Given the description of an element on the screen output the (x, y) to click on. 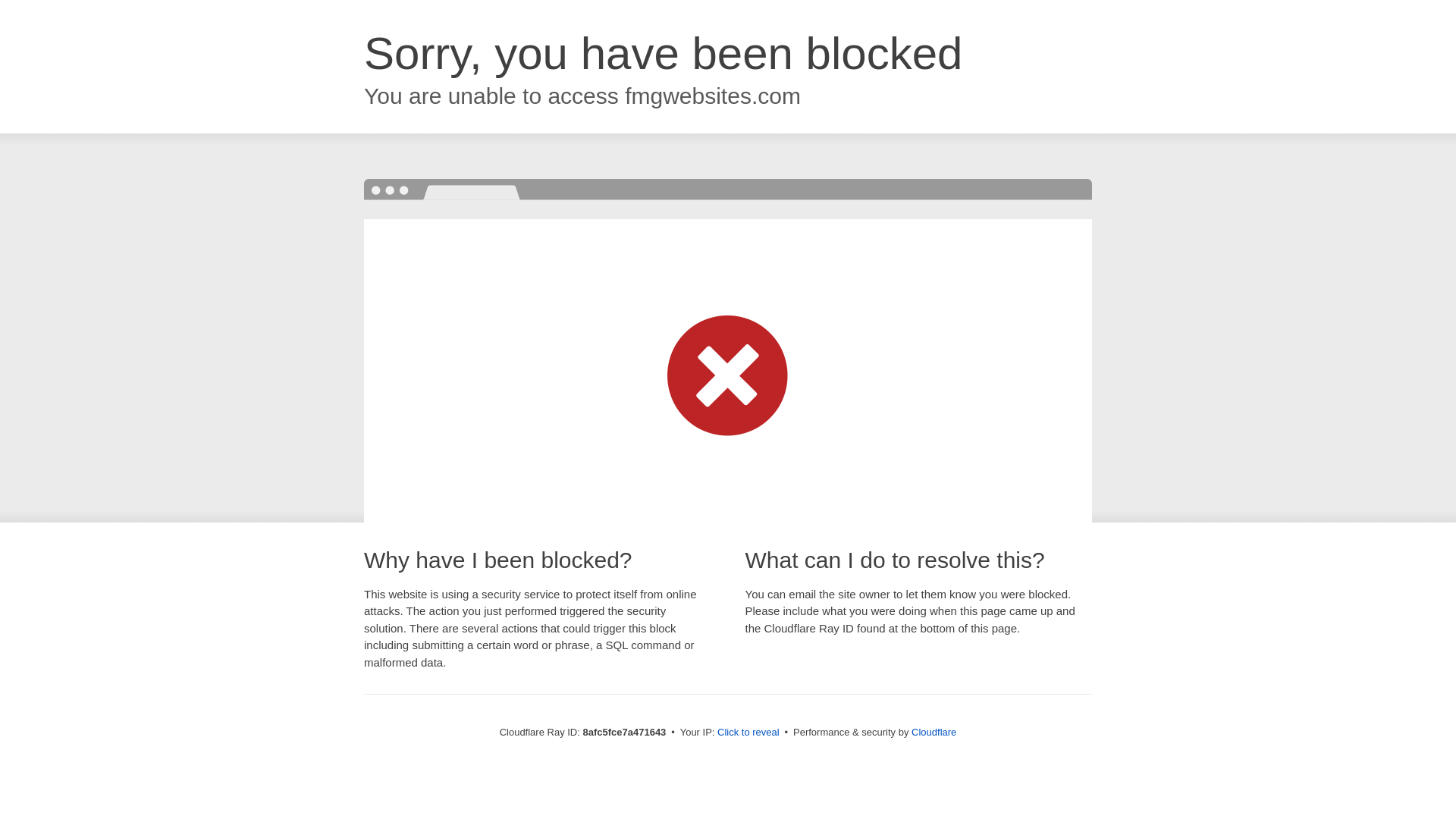
Cloudflare (933, 731)
Click to reveal (747, 732)
